Given the description of an element on the screen output the (x, y) to click on. 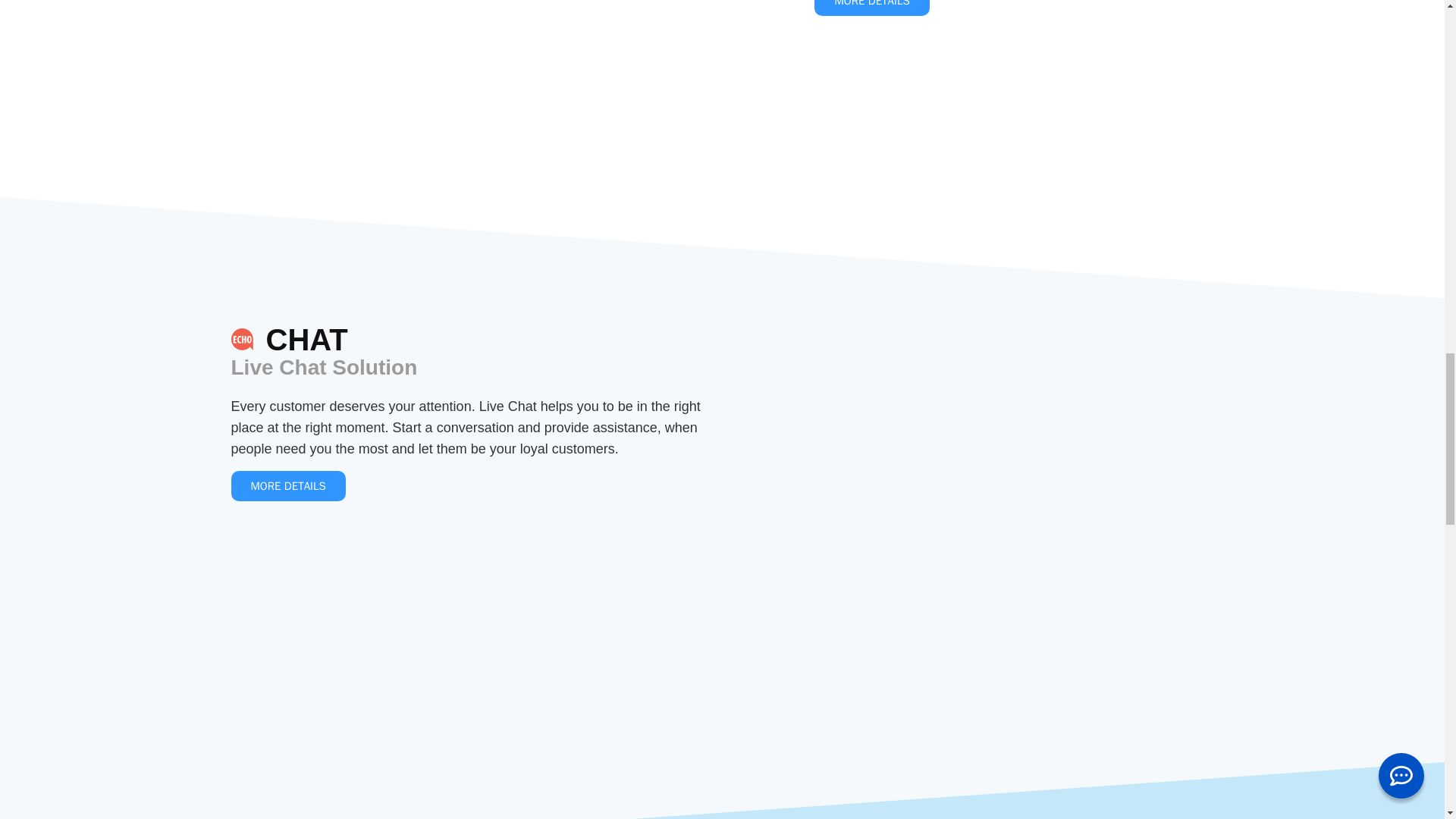
MORE DETAILS (870, 8)
MORE DETAILS (287, 486)
